Given the description of an element on the screen output the (x, y) to click on. 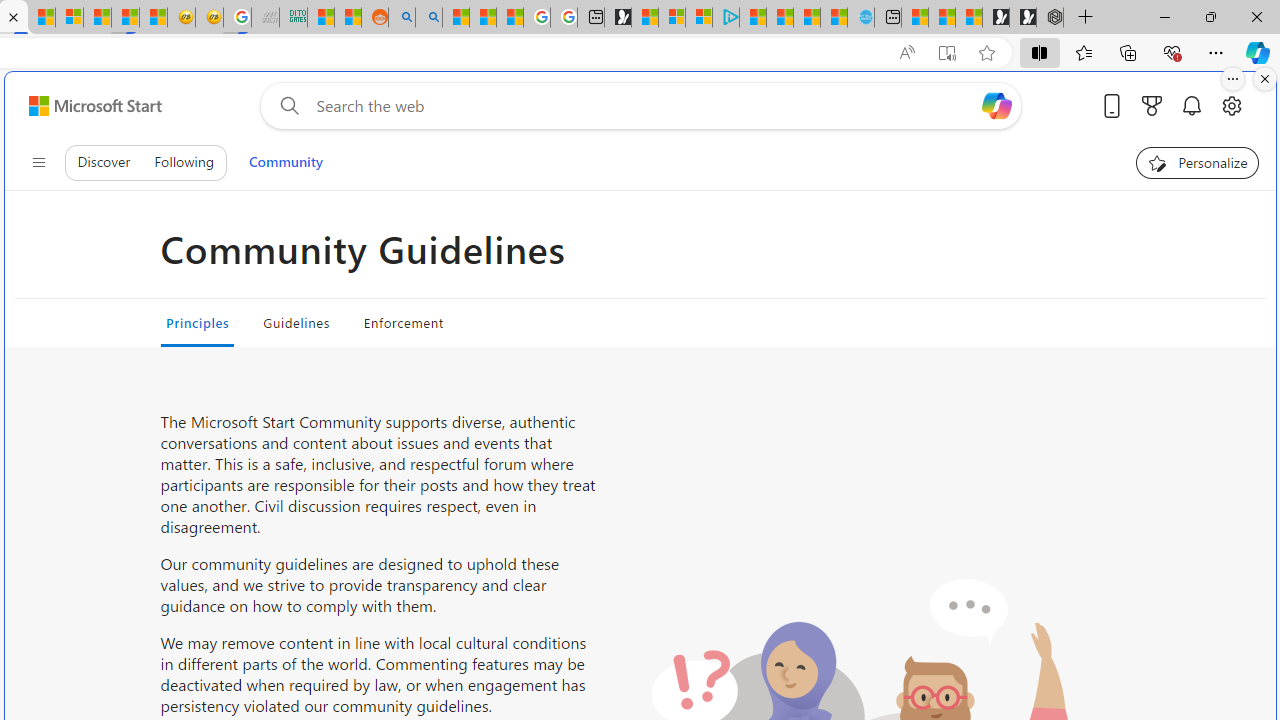
Guidelines (296, 322)
Enforcement (403, 322)
More options. (1233, 79)
Principles (197, 322)
